Given the description of an element on the screen output the (x, y) to click on. 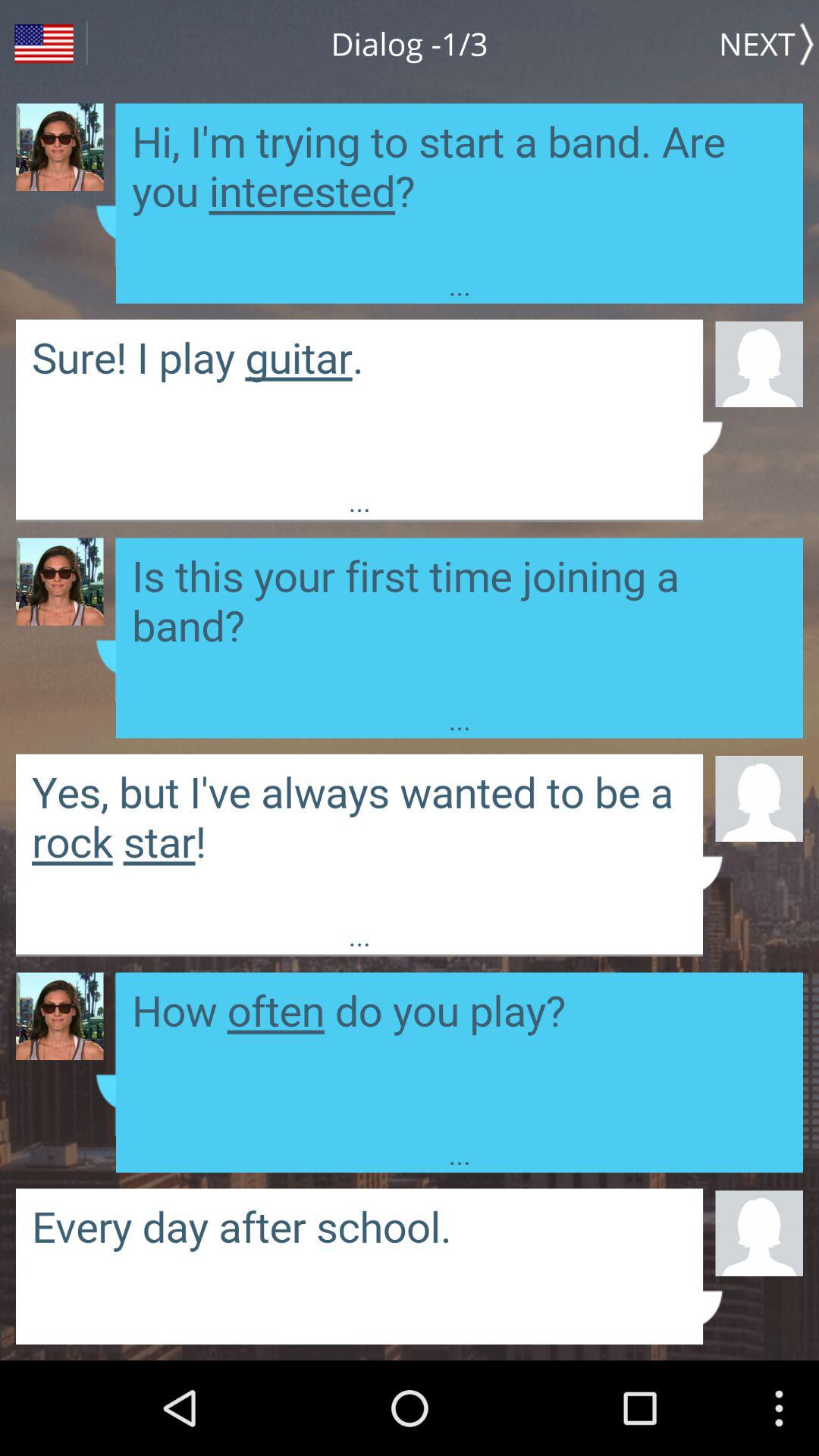
turn on next icon (768, 43)
